Given the description of an element on the screen output the (x, y) to click on. 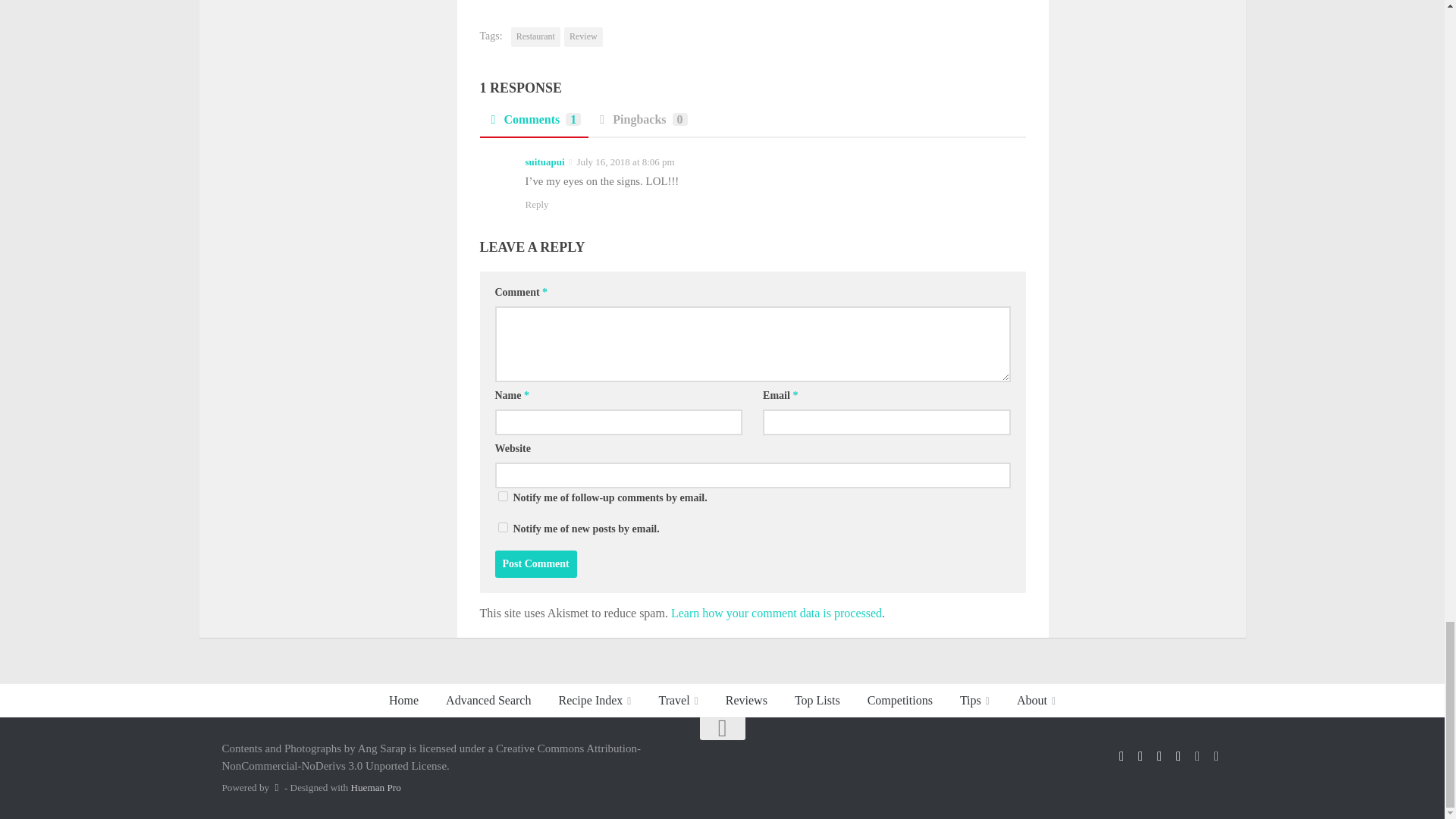
subscribe (501, 496)
Post Comment (535, 564)
subscribe (501, 527)
